Given the description of an element on the screen output the (x, y) to click on. 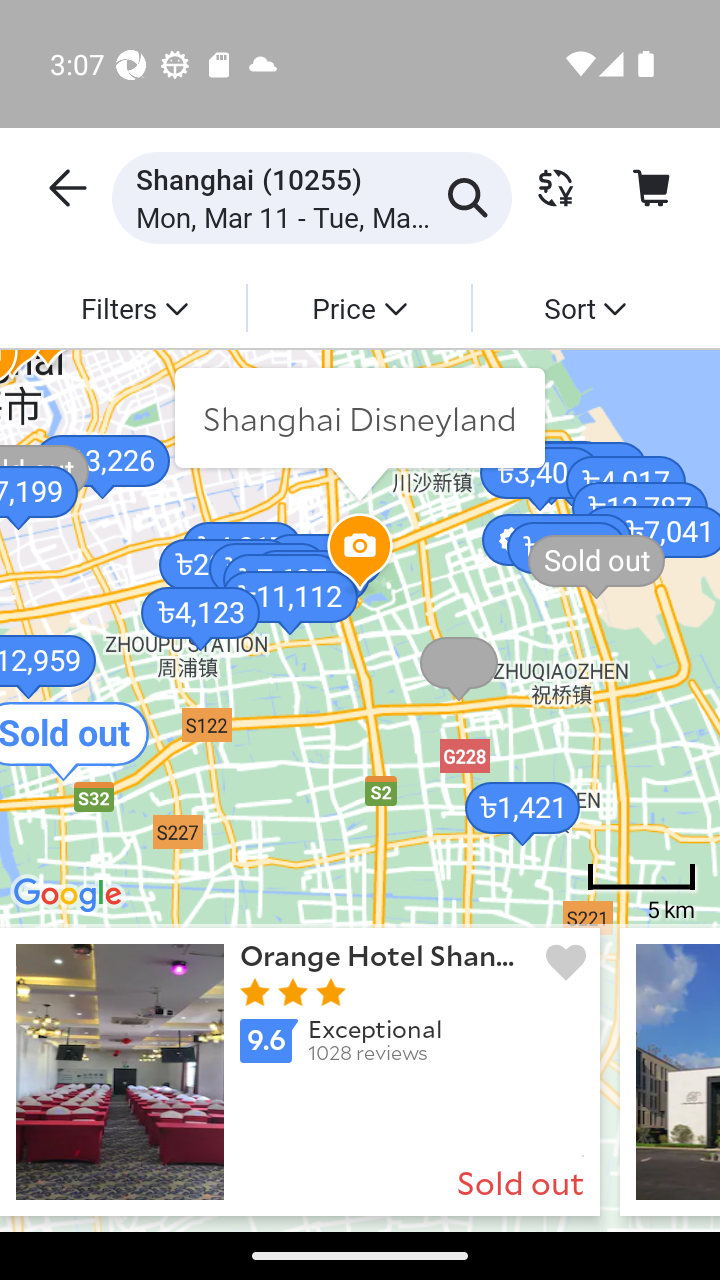
Filters (134, 307)
Price (358, 307)
Sort (584, 307)
